Given the description of an element on the screen output the (x, y) to click on. 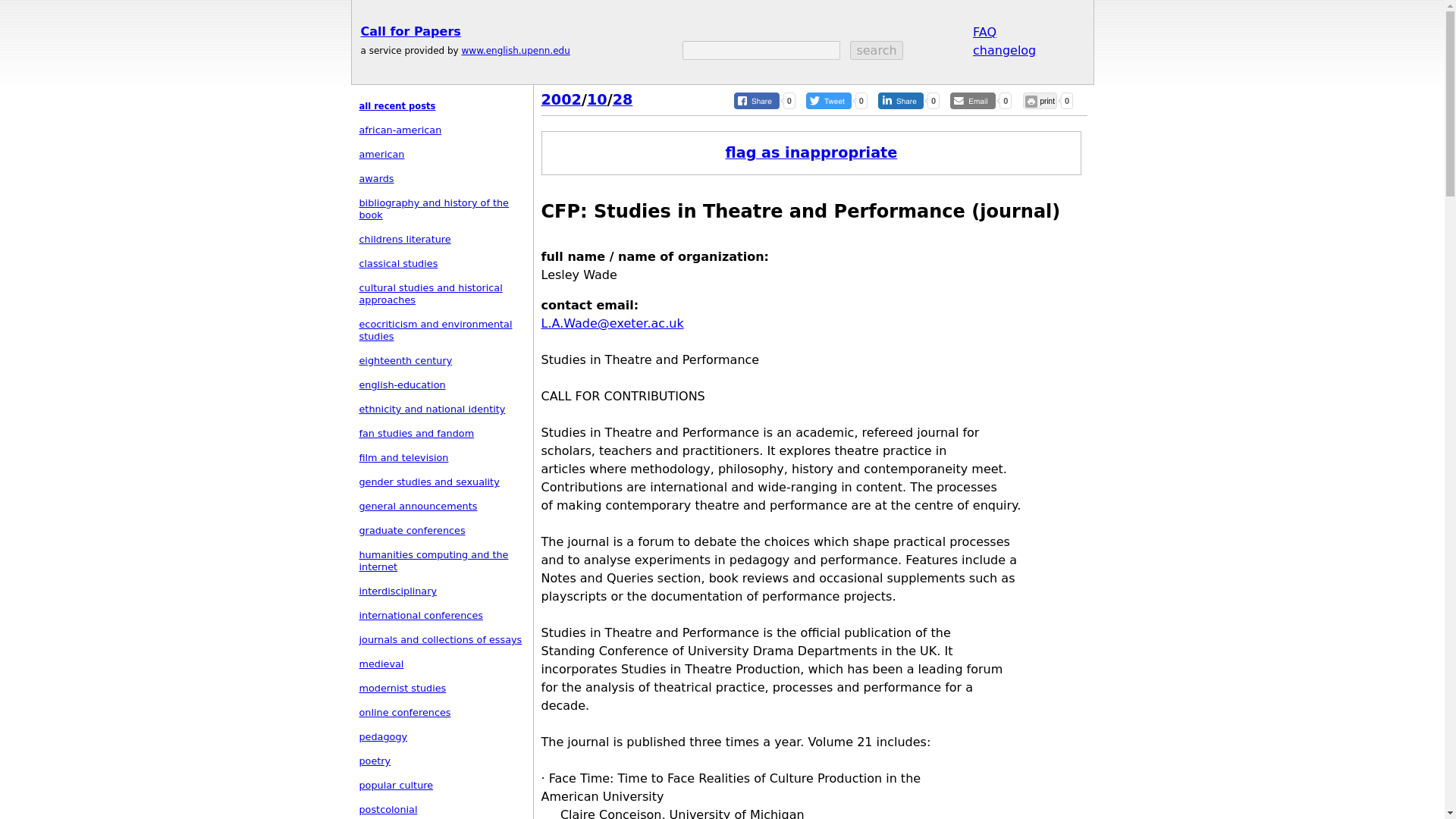
bibliography and history of the book (433, 208)
gender studies and sexuality (429, 481)
search (876, 49)
flag as inappropriate (810, 152)
english-education (402, 384)
journals and collections of essays (440, 639)
ethnicity and national identity (432, 408)
international conferences (421, 614)
28 (622, 99)
search (876, 49)
